Given the description of an element on the screen output the (x, y) to click on. 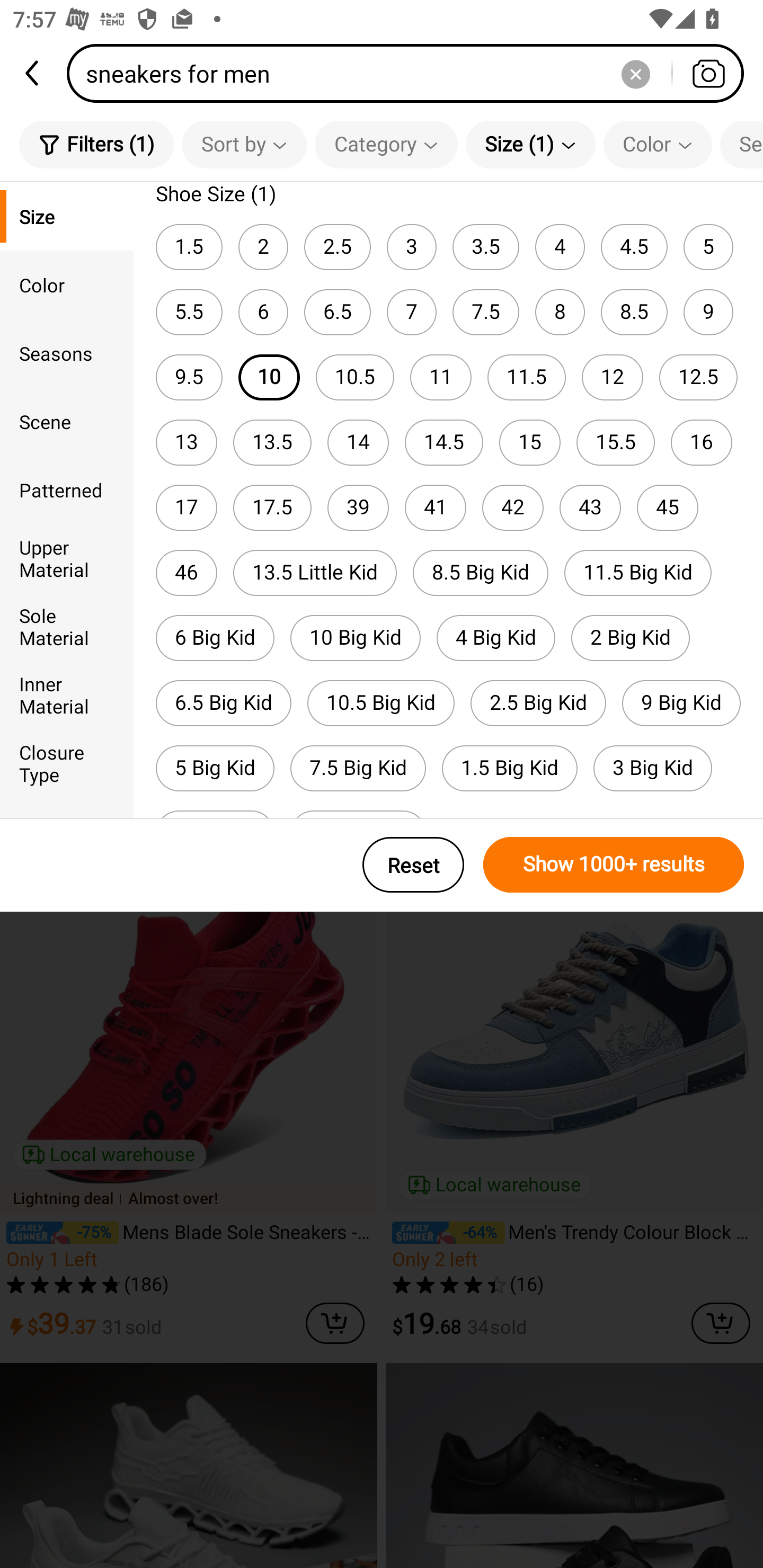
back (33, 72)
sneakers for men (411, 73)
Delete search history (635, 73)
Search by photo (708, 73)
Filters (1) (96, 143)
Sort by (243, 143)
Category (385, 143)
Size (1) (530, 143)
Color (657, 143)
Size (66, 215)
1.5 (188, 246)
2 (263, 246)
2.5 (337, 246)
3 (411, 246)
3.5 (485, 246)
4 (559, 246)
4.5 (634, 246)
5 (708, 246)
Color (66, 284)
5.5 (188, 311)
6 (263, 311)
6.5 (337, 311)
7 (411, 311)
7.5 (485, 311)
8 (559, 311)
8.5 (634, 311)
9 (708, 311)
Seasons (66, 352)
9.5 (188, 376)
10 (268, 376)
10.5 (354, 376)
11 (440, 376)
11.5 (526, 376)
12 (612, 376)
12.5 (698, 376)
Scene (66, 421)
13 (186, 442)
13.5 (272, 442)
14 (358, 442)
14.5 (443, 442)
15 (529, 442)
15.5 (615, 442)
16 (701, 442)
Patterned (66, 489)
17 (186, 507)
17.5 (272, 507)
39 (358, 507)
41 (435, 507)
42 (512, 507)
43 (590, 507)
45 (667, 507)
Upper Material (66, 557)
46 (186, 572)
13.5 Little Kid (314, 572)
8.5 Big Kid (480, 572)
11.5 Big Kid (637, 572)
Sole Material (66, 626)
6 Big Kid (214, 637)
10 Big Kid (355, 637)
4 Big Kid (495, 637)
2 Big Kid (630, 637)
Inner Material (66, 694)
6.5 Big Kid (223, 702)
10.5 Big Kid (380, 702)
2.5 Big Kid (537, 702)
9 Big Kid (680, 702)
Closure Type (66, 762)
5 Big Kid (214, 767)
7.5 Big Kid (357, 767)
1.5 Big Kid (509, 767)
3 Big Kid (652, 767)
Reset (412, 864)
Show 1000+ results (612, 864)
